Given the description of an element on the screen output the (x, y) to click on. 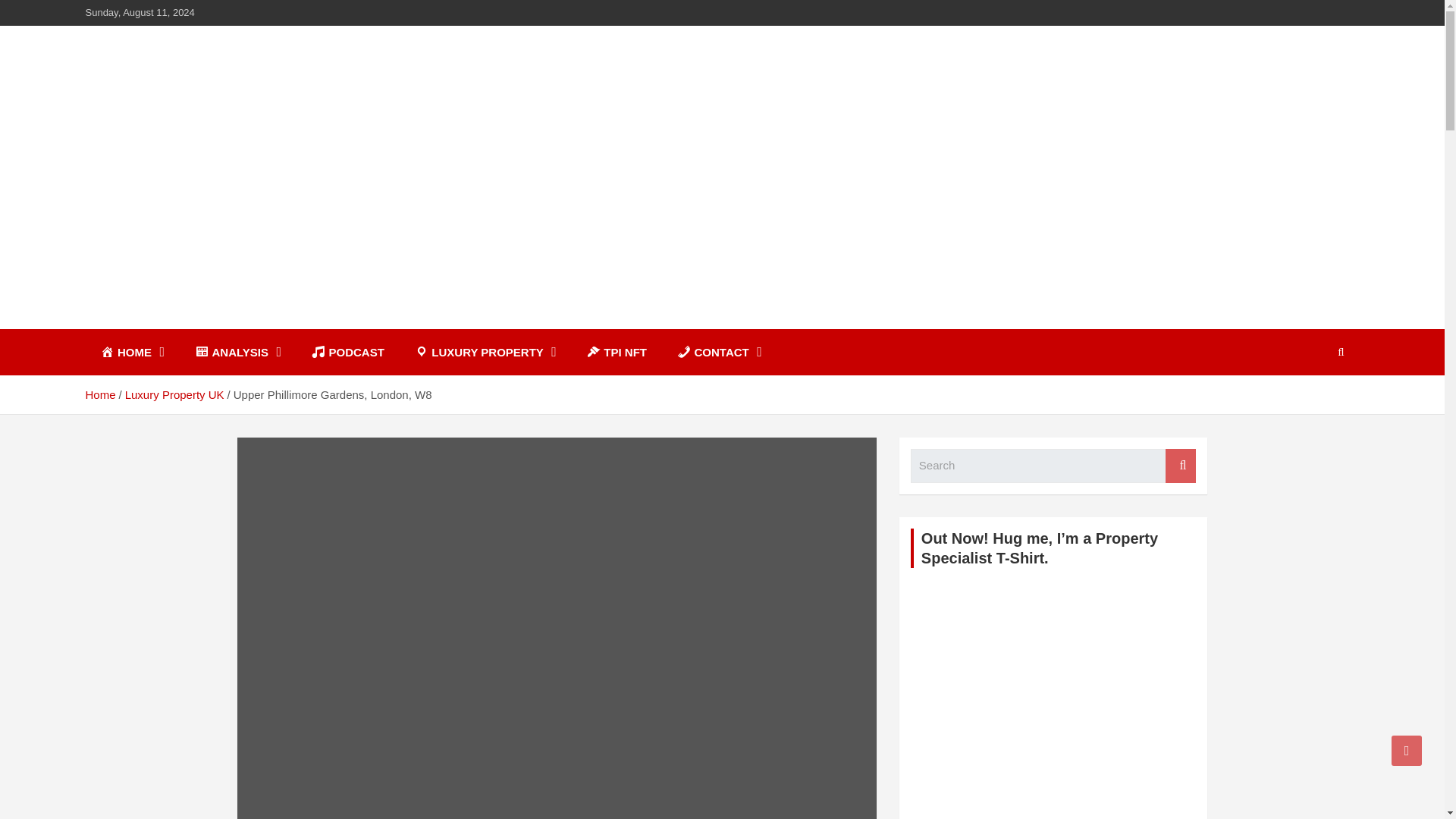
CONTACT (719, 352)
HOME (131, 352)
LUXURY PROPERTY (485, 352)
Luxury Property UK (174, 394)
The Property Investor (240, 326)
Home (99, 394)
TPI NFT (617, 352)
PODCAST (347, 352)
ANALYSIS (238, 352)
